Given the description of an element on the screen output the (x, y) to click on. 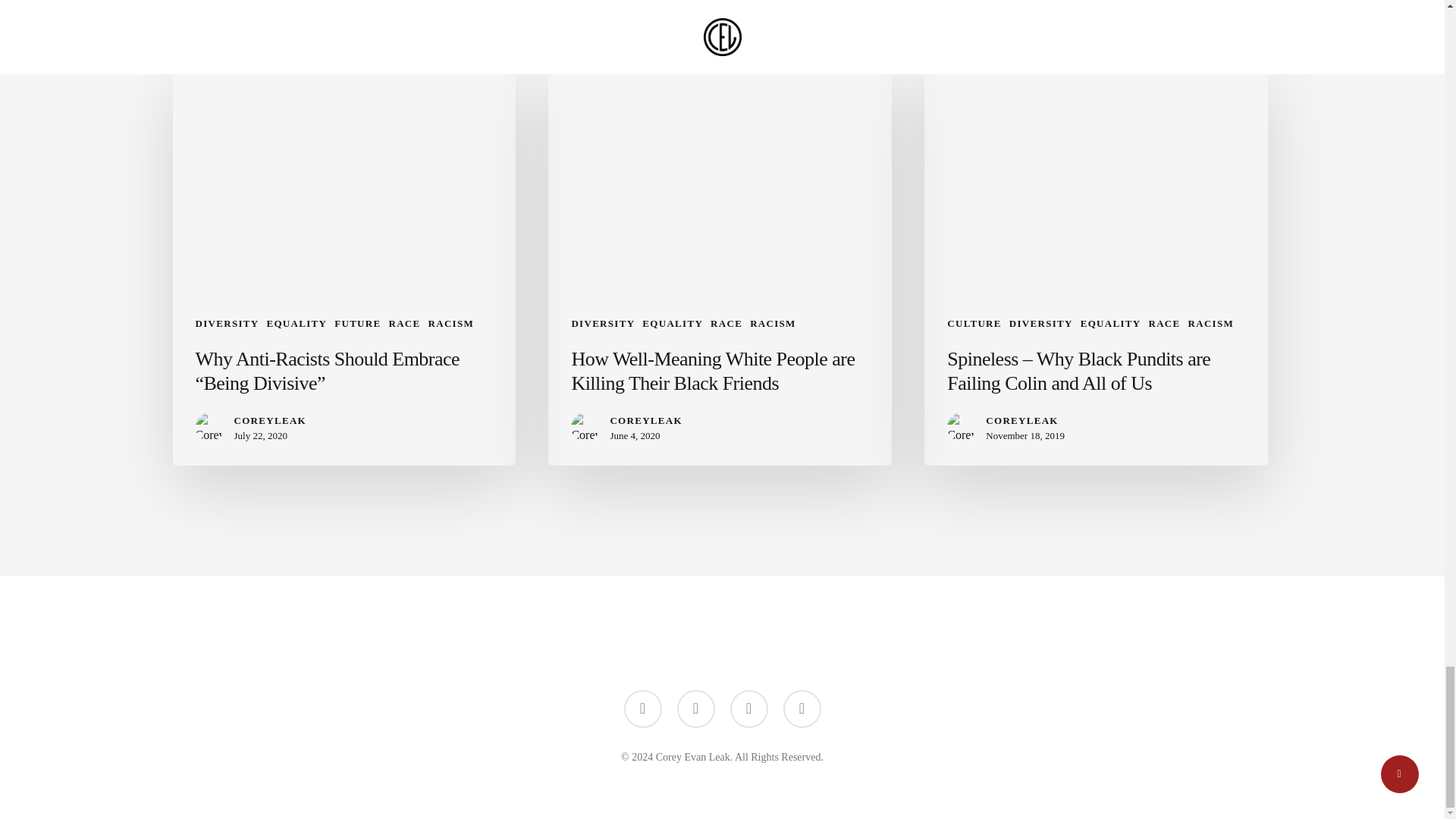
EQUALITY (1110, 323)
DIVERSITY (1041, 323)
RACE (1163, 323)
EQUALITY (296, 323)
RACE (726, 323)
DIVERSITY (602, 323)
RACISM (1211, 323)
FUTURE (357, 323)
COREYLEAK (268, 420)
RACISM (772, 323)
RACISM (451, 323)
CULTURE (974, 323)
COREYLEAK (1024, 420)
RACE (404, 323)
DIVERSITY (227, 323)
